Given the description of an element on the screen output the (x, y) to click on. 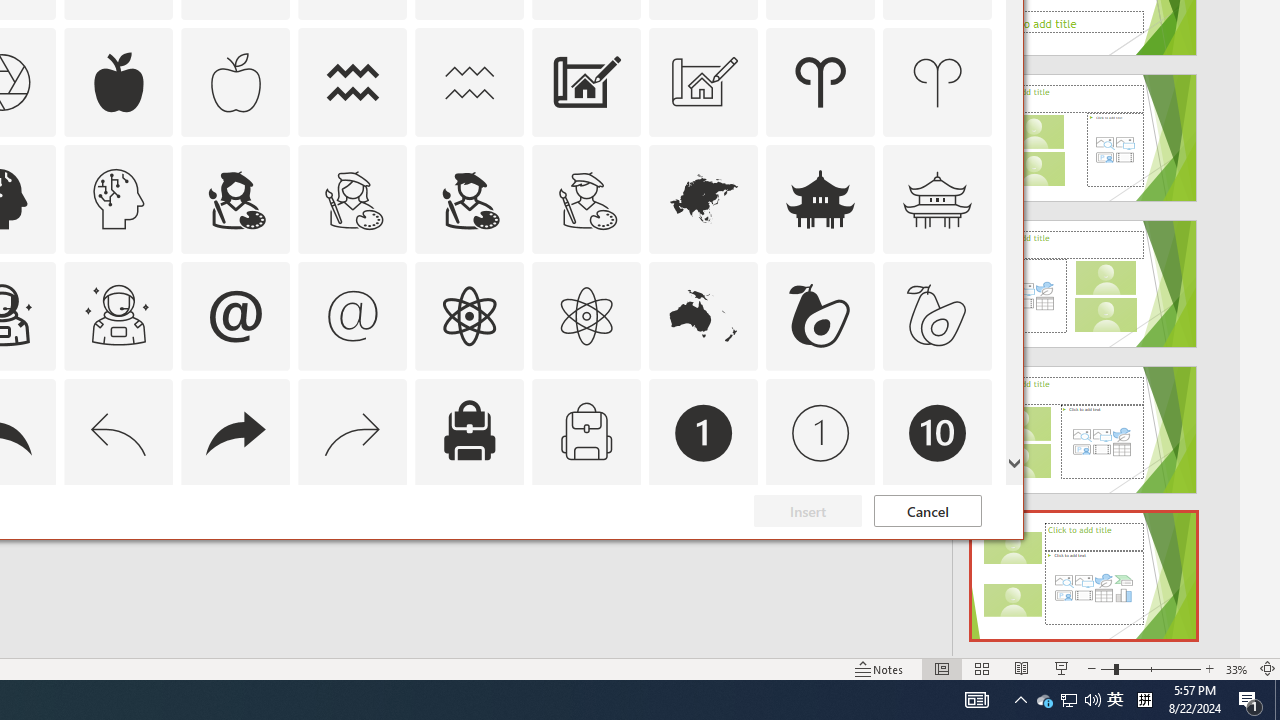
AutomationID: Icons_Badge6 (118, 550)
AutomationID: Icons_AstronautMale_M (118, 316)
Zoom 33% (1236, 668)
AutomationID: Icons_Badge8 (586, 550)
AutomationID: Icons_Backpack (469, 432)
AutomationID: Icons (937, 550)
AutomationID: Icons_Badge1_M (820, 432)
